Given the description of an element on the screen output the (x, y) to click on. 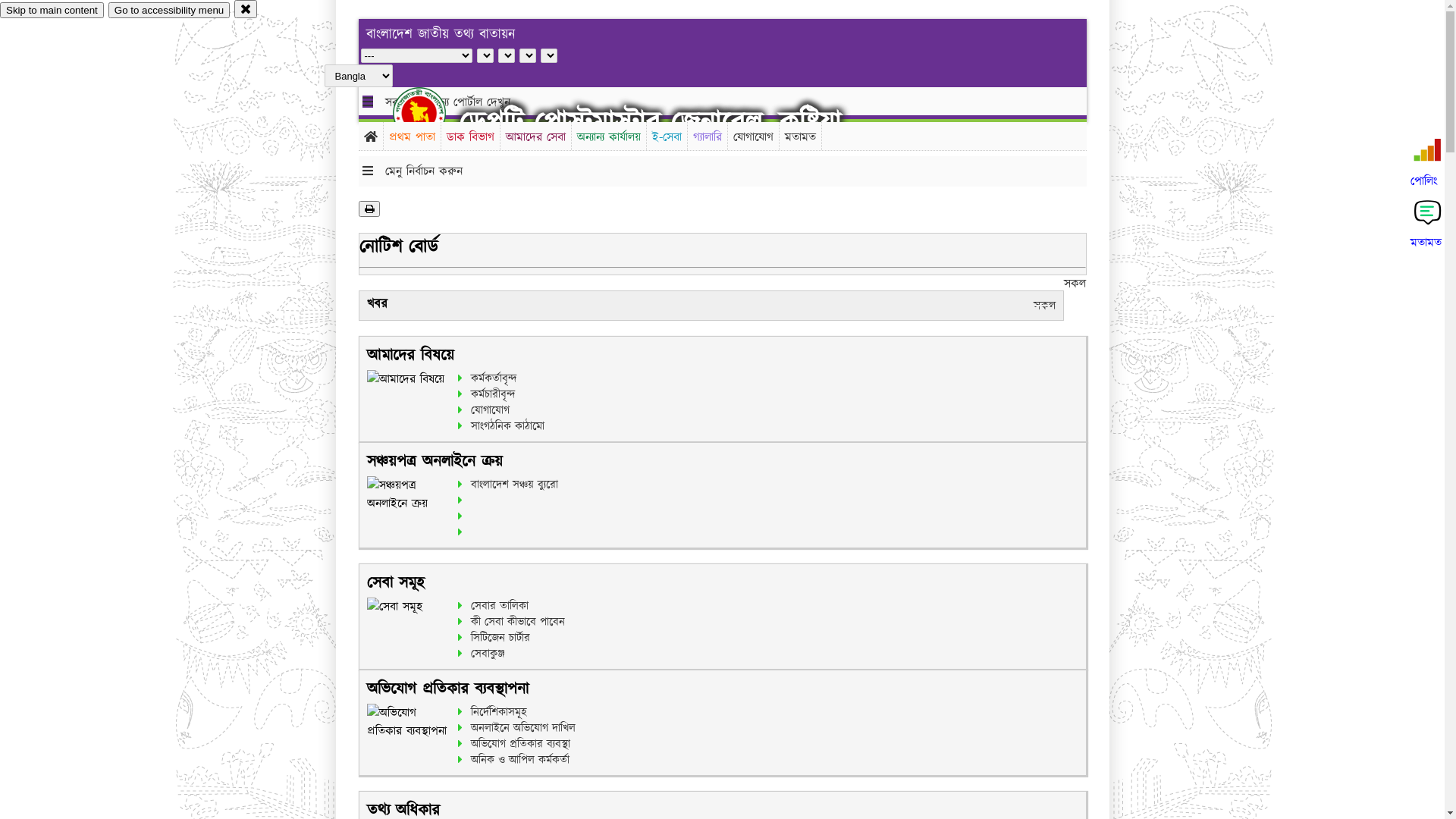
Skip to main content Element type: text (51, 10)
close Element type: hover (245, 9)

                
             Element type: hover (431, 112)
Go to accessibility menu Element type: text (168, 10)
